Given the description of an element on the screen output the (x, y) to click on. 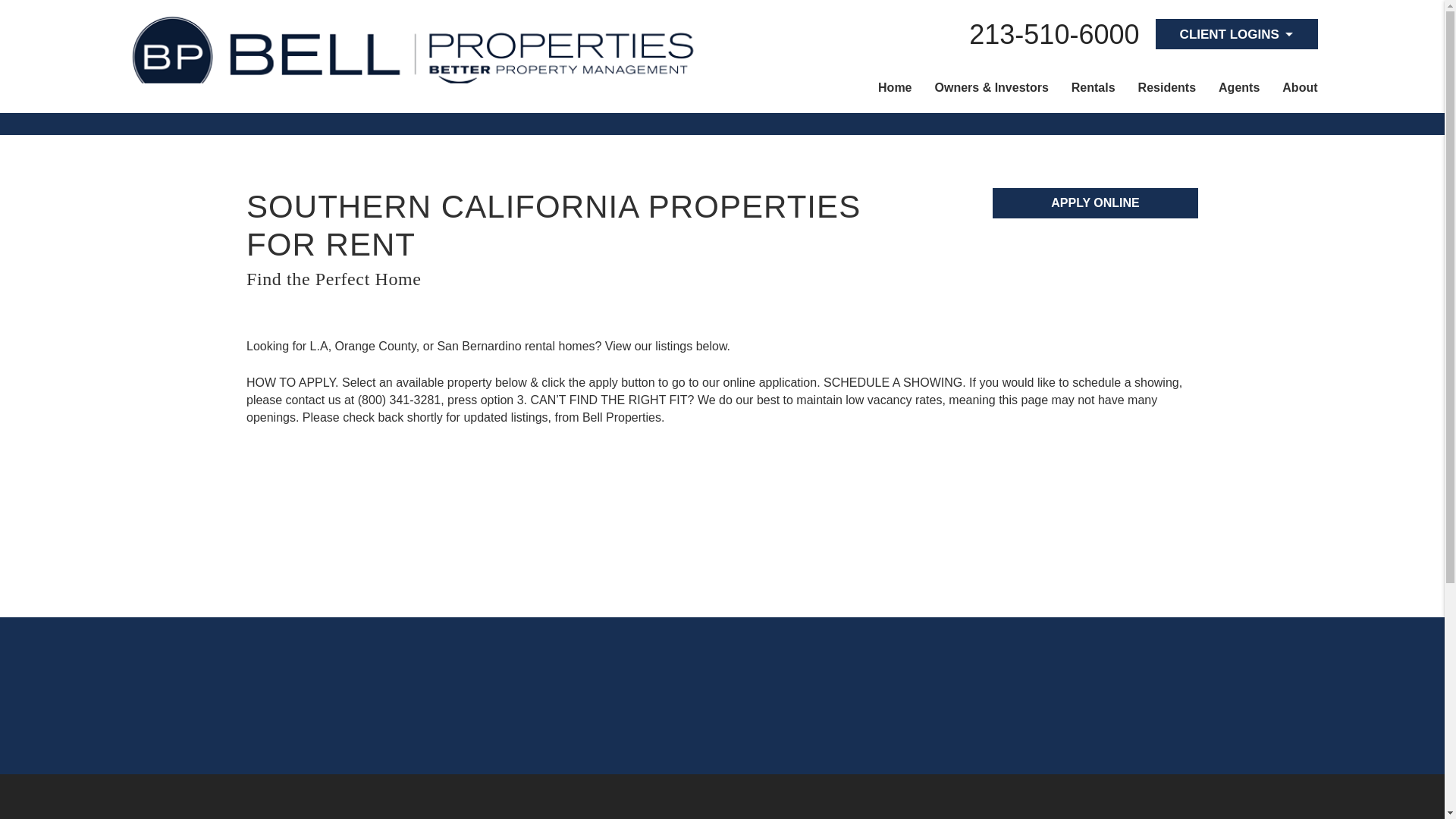
About (1299, 93)
CLIENT LOGINS (1236, 33)
213-510-6000 (1053, 33)
Home (894, 93)
Residents (1166, 93)
opens in new window (1095, 203)
Rentals (1093, 93)
Agents (1238, 93)
